Given the description of an element on the screen output the (x, y) to click on. 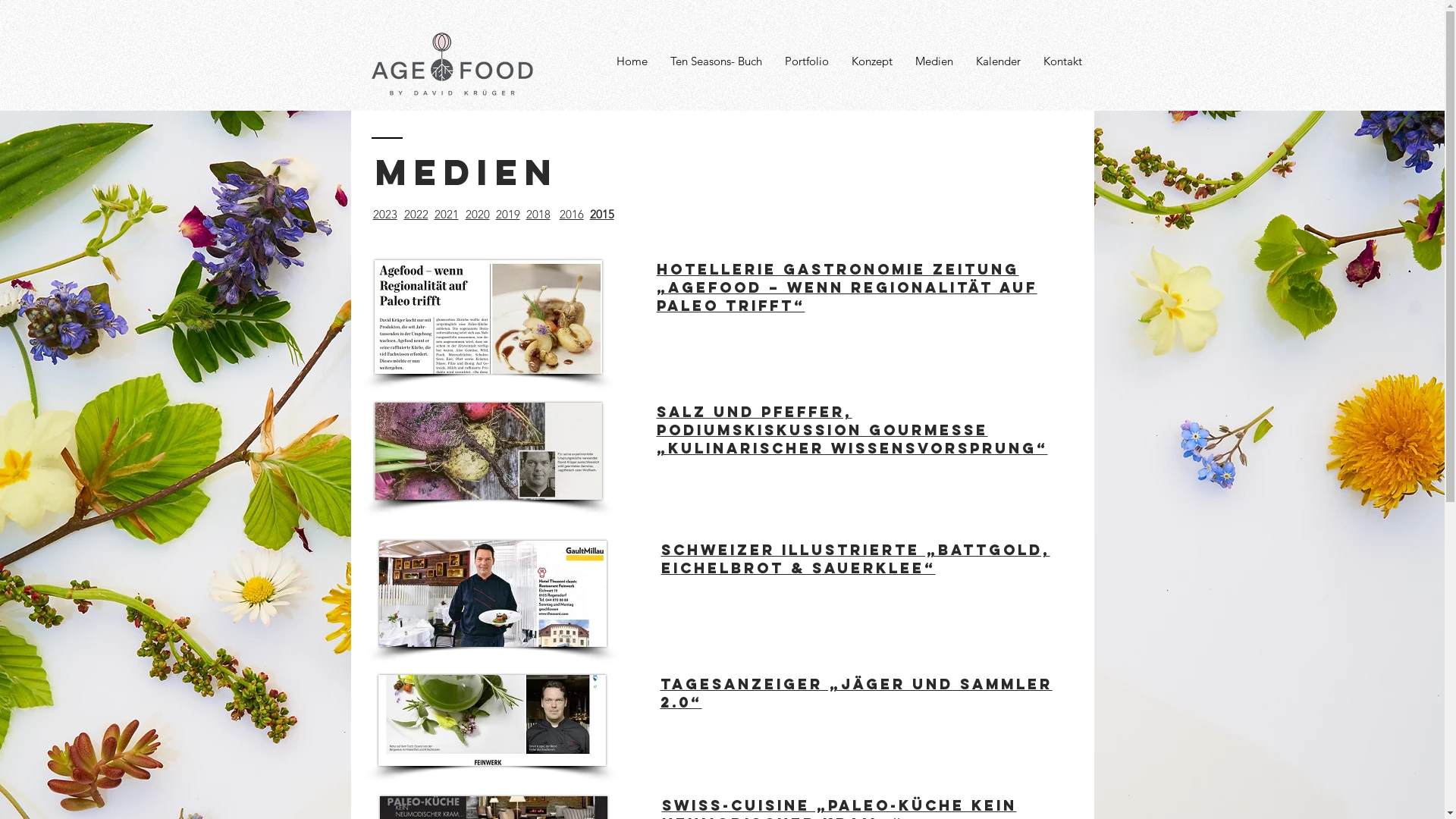
2016 Element type: text (571, 214)
2021 Element type: text (445, 214)
Kontakt Element type: text (1061, 60)
Konzept Element type: text (871, 60)
2018 Element type: text (538, 214)
2022 Element type: text (415, 214)
2023 Element type: text (385, 214)
Kalender Element type: text (998, 60)
Medien Element type: text (933, 60)
2019 Element type: text (507, 214)
2020 Element type: text (477, 214)
Portfolio Element type: text (806, 60)
2015 Element type: text (601, 214)
Ten Seasons- Buch Element type: text (715, 60)
Home Element type: text (631, 60)
